Given the description of an element on the screen output the (x, y) to click on. 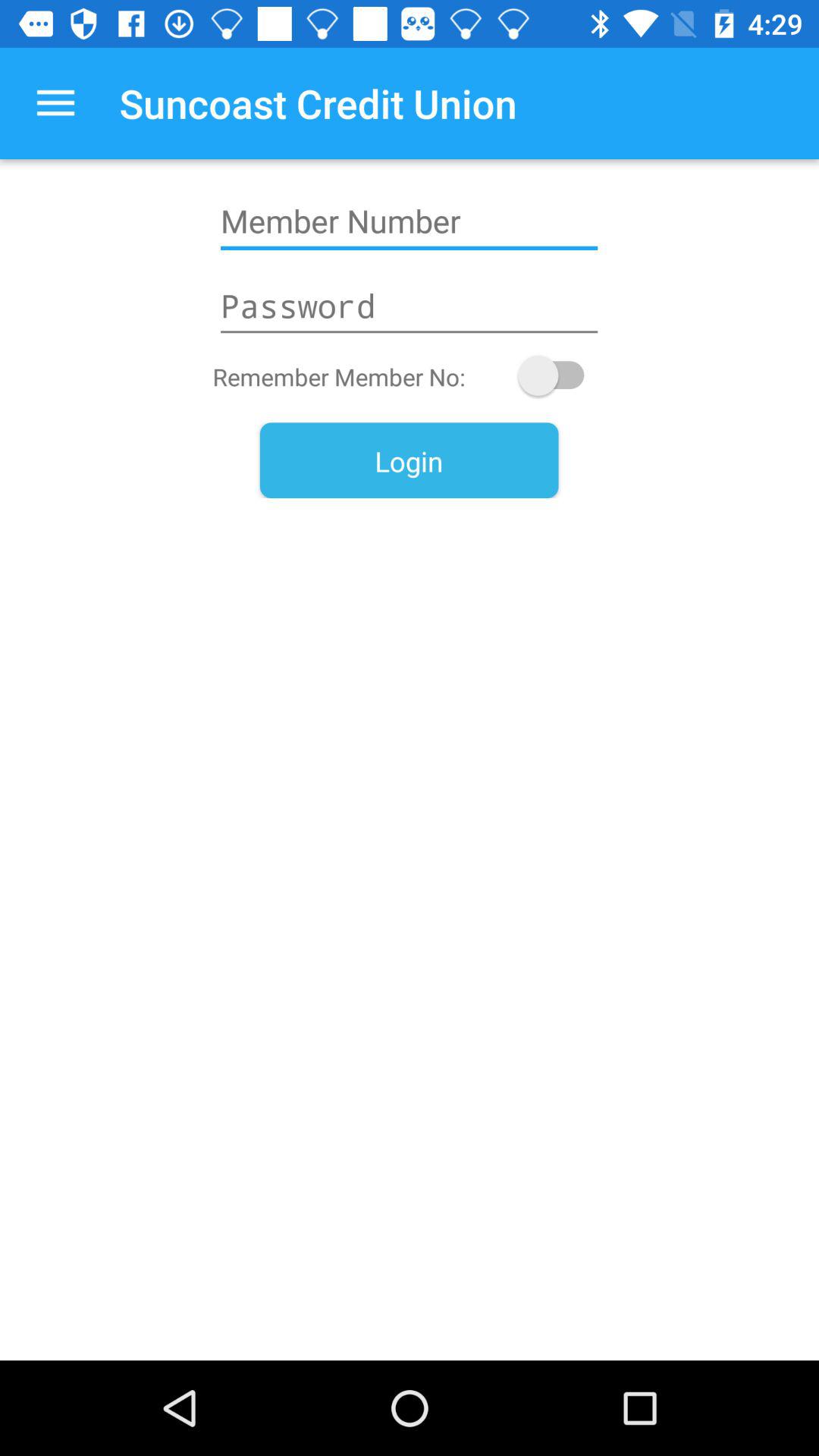
flip until the login icon (408, 460)
